Given the description of an element on the screen output the (x, y) to click on. 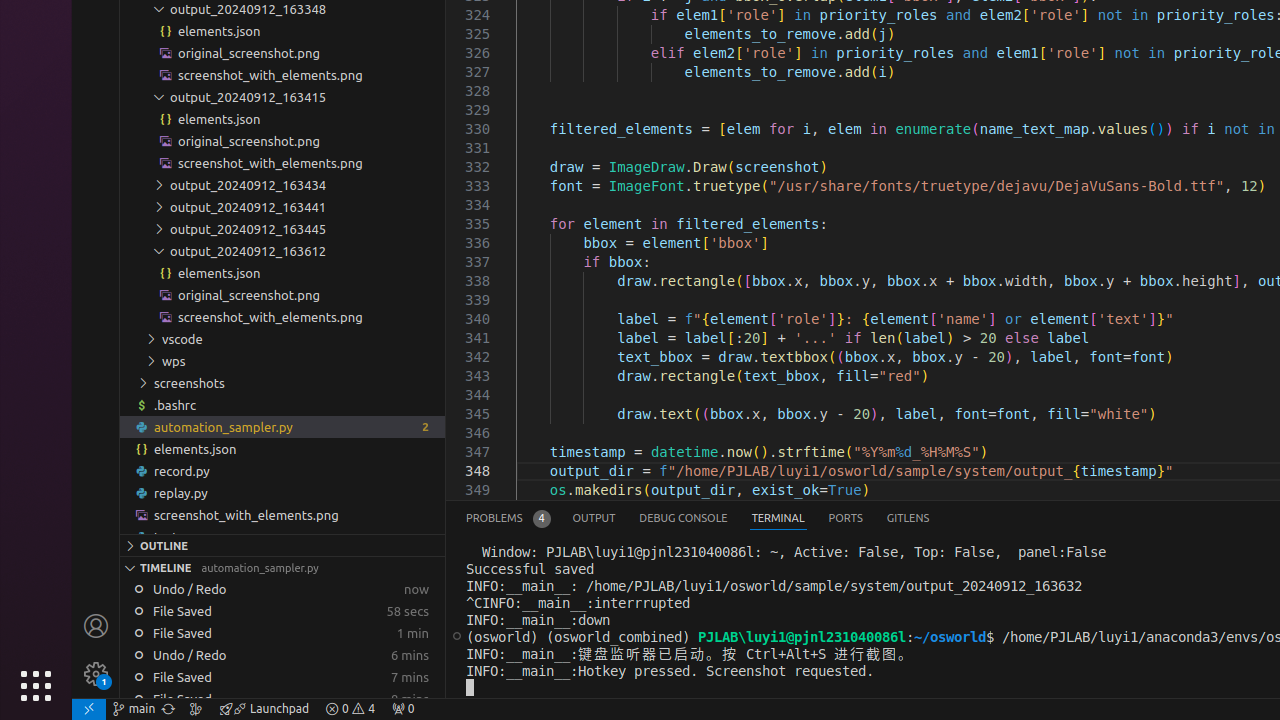
Manage - New Code update available. Element type: push-button (96, 674)
.bashrc Element type: tree-item (282, 404)
Show the GitLens Commit Graph Element type: push-button (196, 709)
Timeline Section Element type: push-button (282, 567)
original_screenshot.png Element type: tree-item (282, 295)
